Given the description of an element on the screen output the (x, y) to click on. 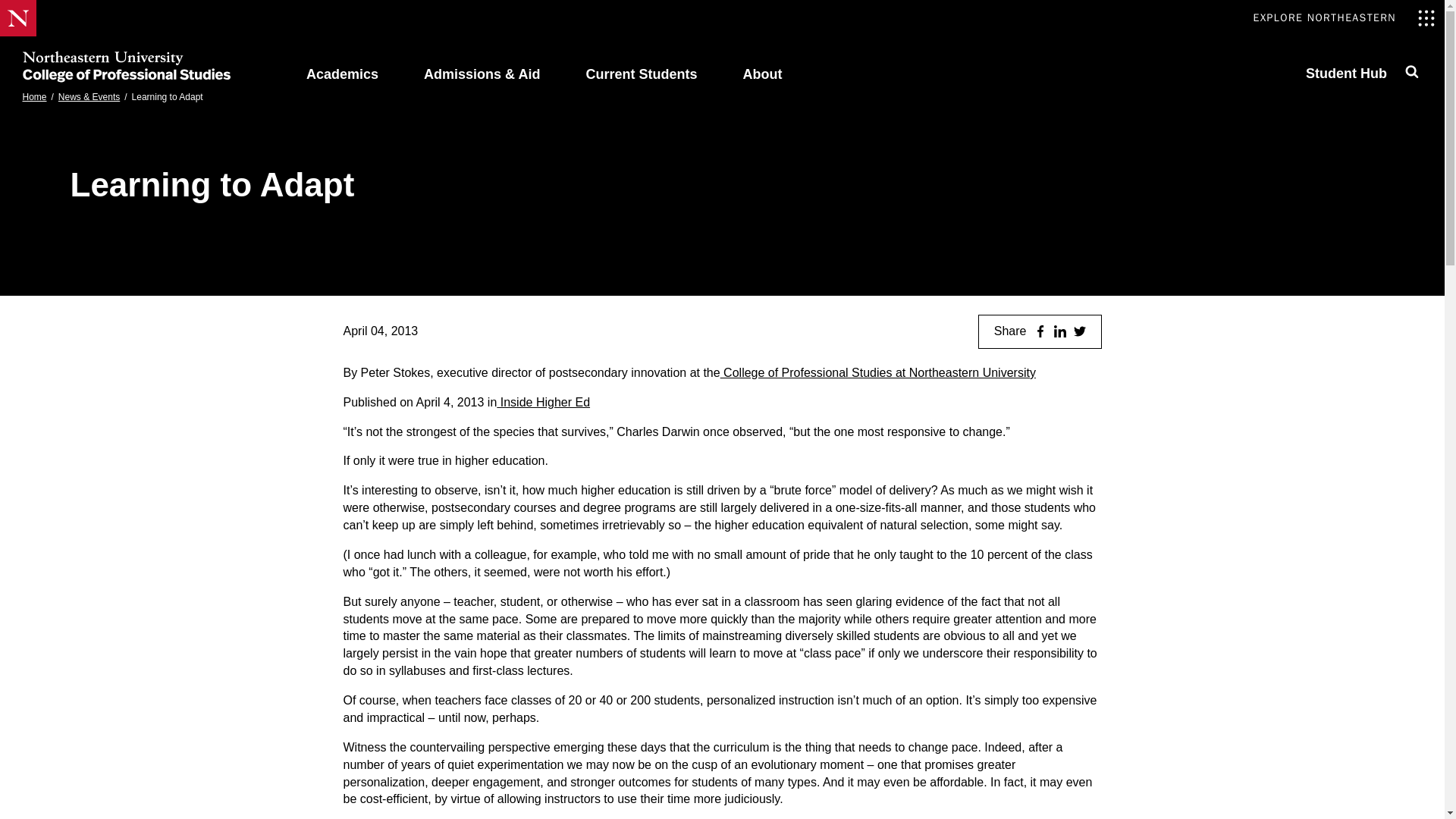
Northeastern University College of Professional Studies (126, 66)
EXPLORE NORTHEASTERN (342, 67)
